Given the description of an element on the screen output the (x, y) to click on. 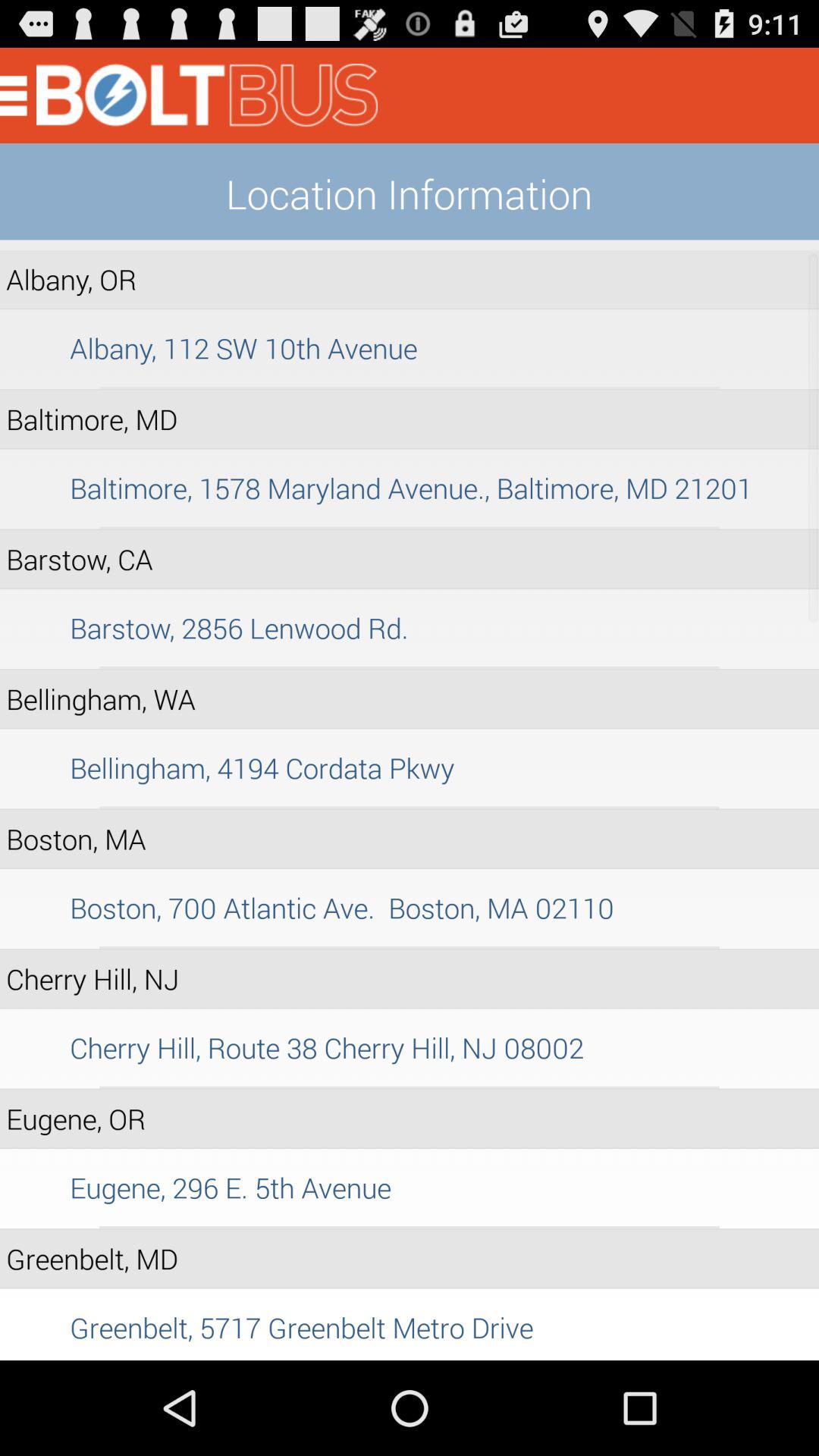
choose the app above the boston, ma item (409, 807)
